Given the description of an element on the screen output the (x, y) to click on. 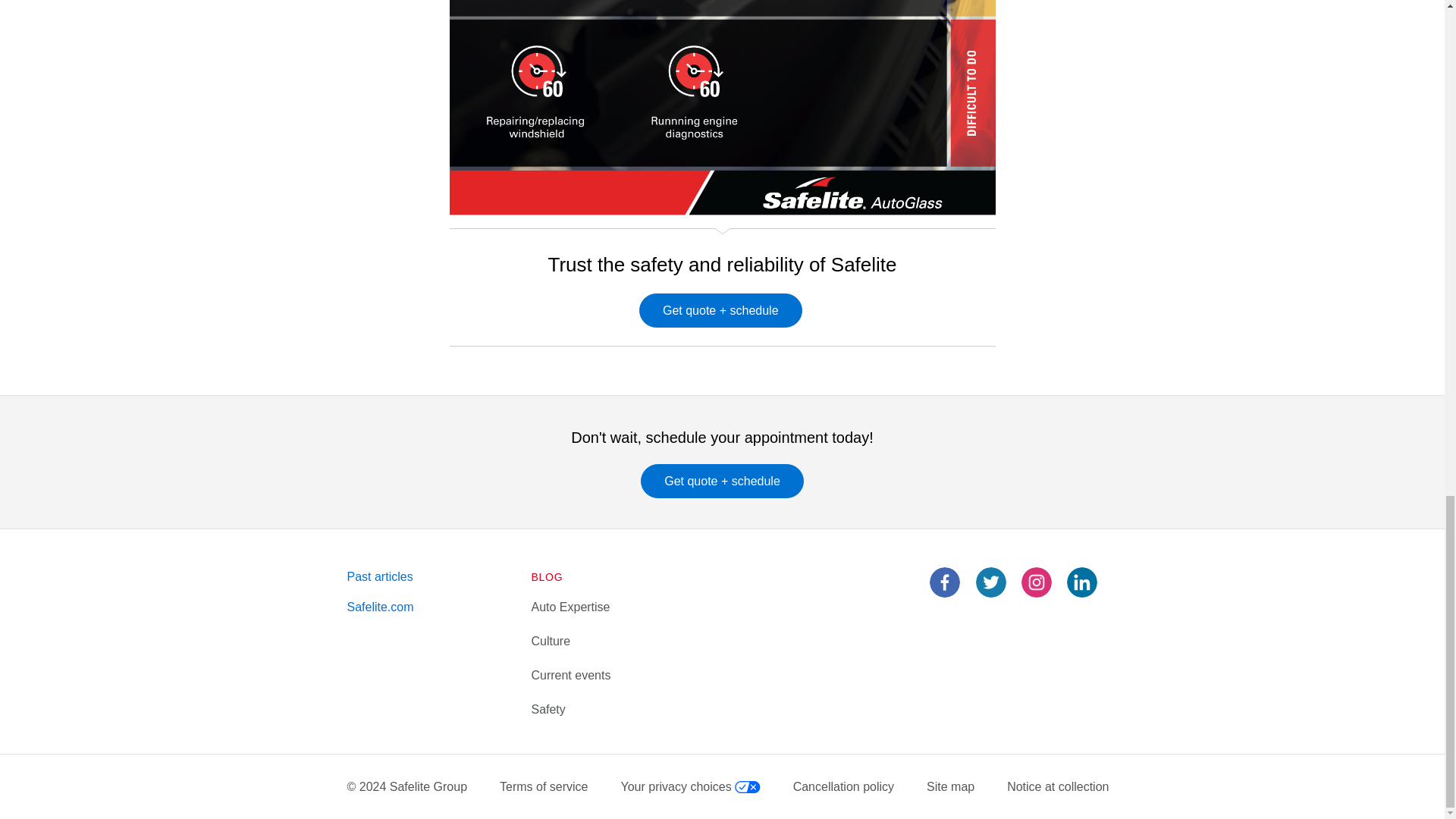
Culture (550, 641)
Past articles (380, 576)
Notice at collection (1057, 786)
Cancellation policy (843, 786)
Safelite.com (380, 606)
Site map (950, 786)
Auto Expertise (570, 606)
Terms of service (543, 786)
Your privacy choices (690, 786)
Current events (570, 674)
